Given the description of an element on the screen output the (x, y) to click on. 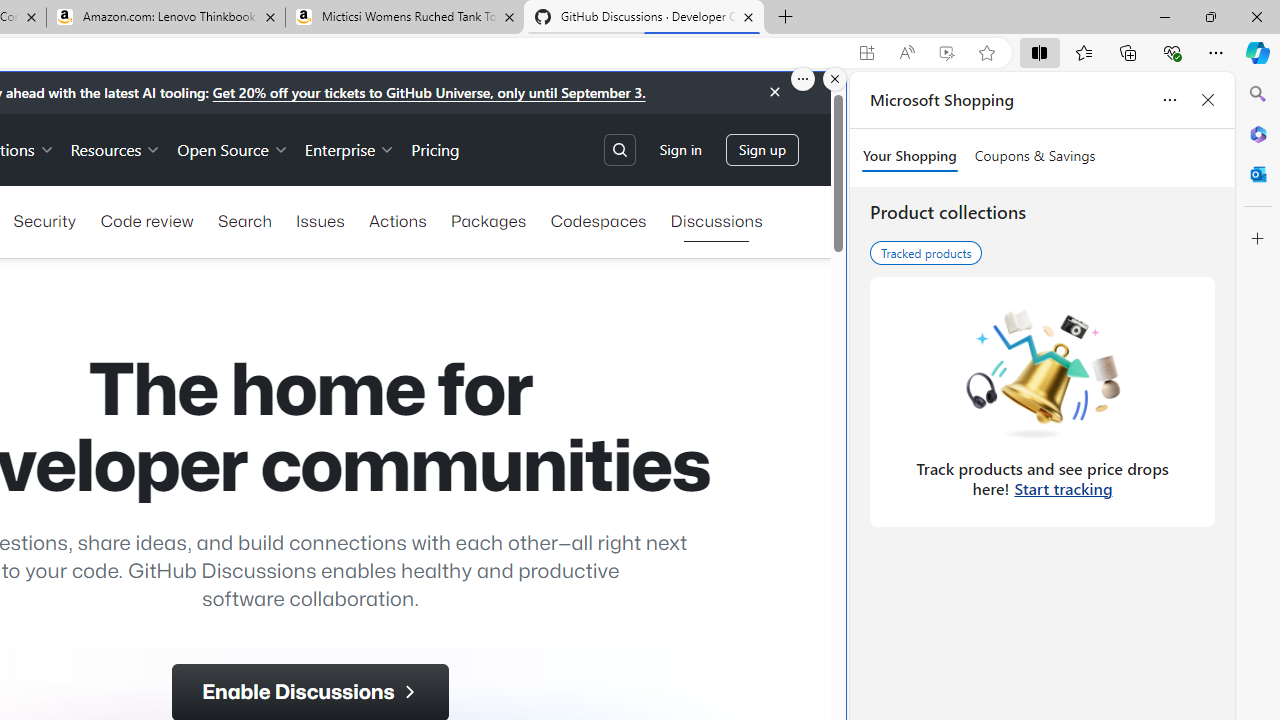
Class: octicon arrow-symbol-mktg (408, 691)
Codespaces (598, 220)
Actions (397, 220)
App available. Install  (867, 53)
Enterprise (349, 148)
Resources (115, 148)
Resources (115, 148)
Packages (488, 220)
